Given the description of an element on the screen output the (x, y) to click on. 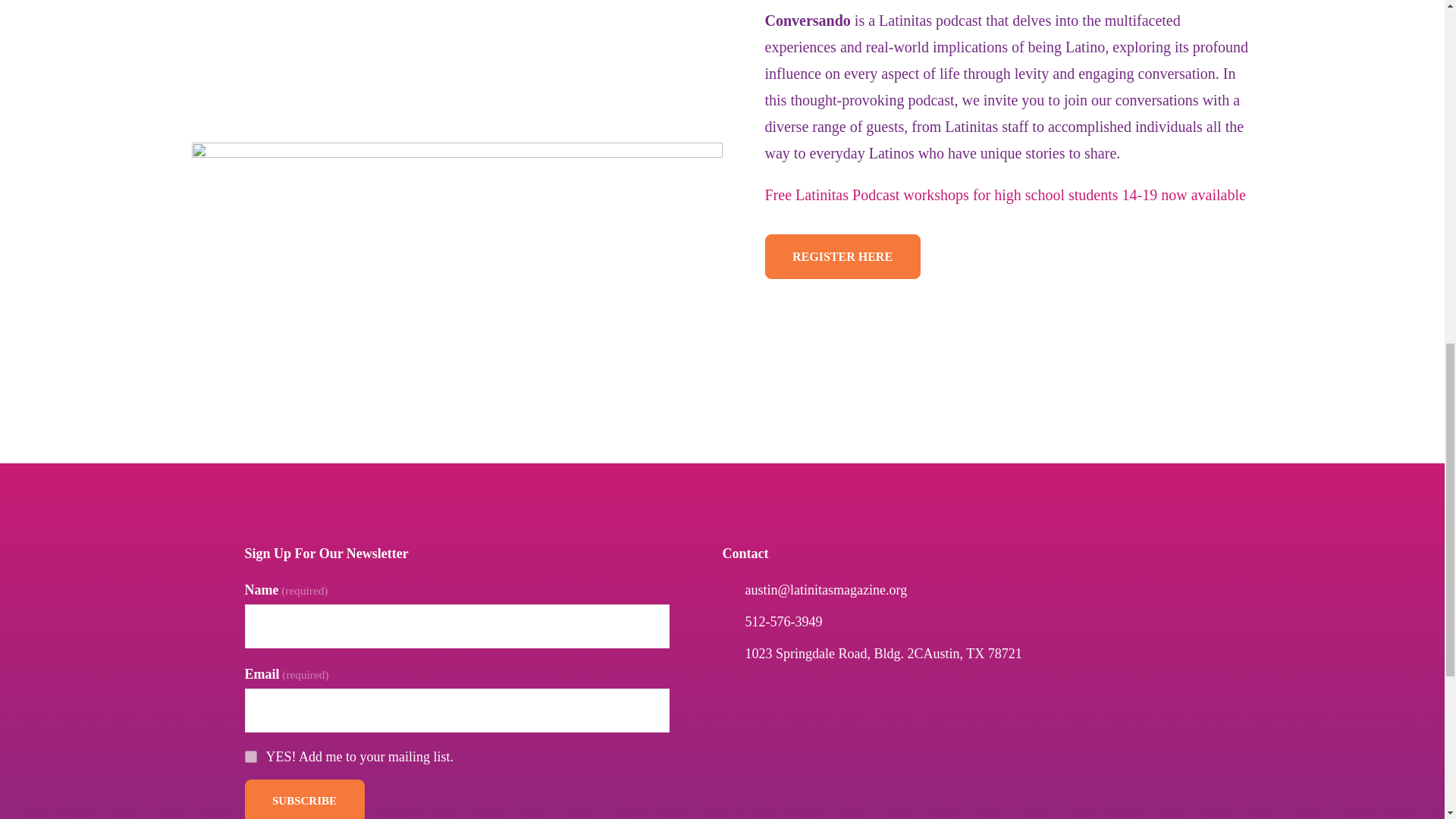
Yes (250, 756)
1023 Springdale Road, Bldg. 2C (833, 653)
SUBSCRIBE (304, 799)
512-576-3949 (783, 621)
Austin, TX 78721 (972, 653)
REGISTER HERE (842, 256)
